Given the description of an element on the screen output the (x, y) to click on. 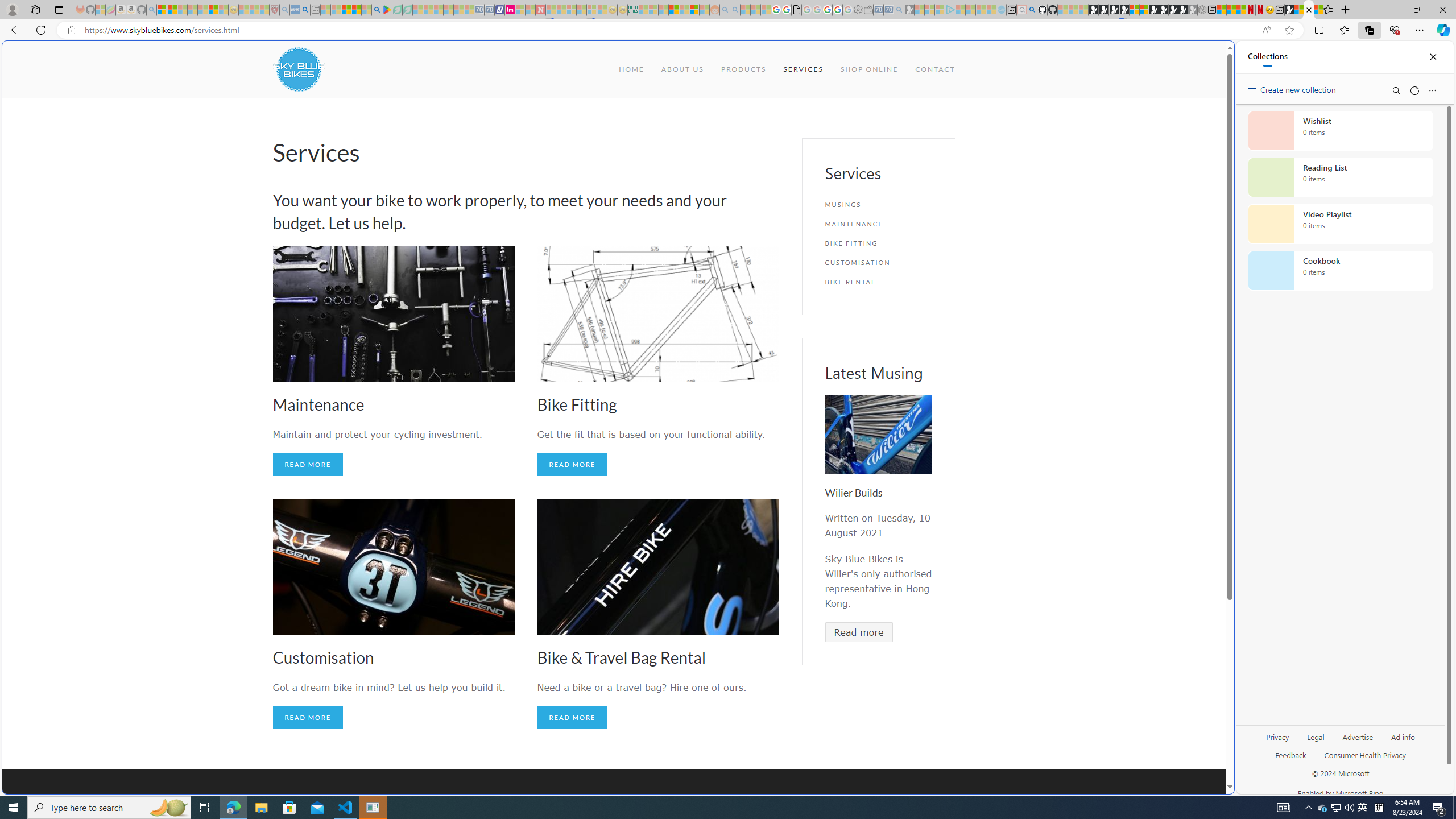
Our Services | Sky Blue Bikes - Sky Blue Bikes (1307, 9)
BIKE RENTAL (878, 281)
CUSTOMISATION (878, 262)
